Given the description of an element on the screen output the (x, y) to click on. 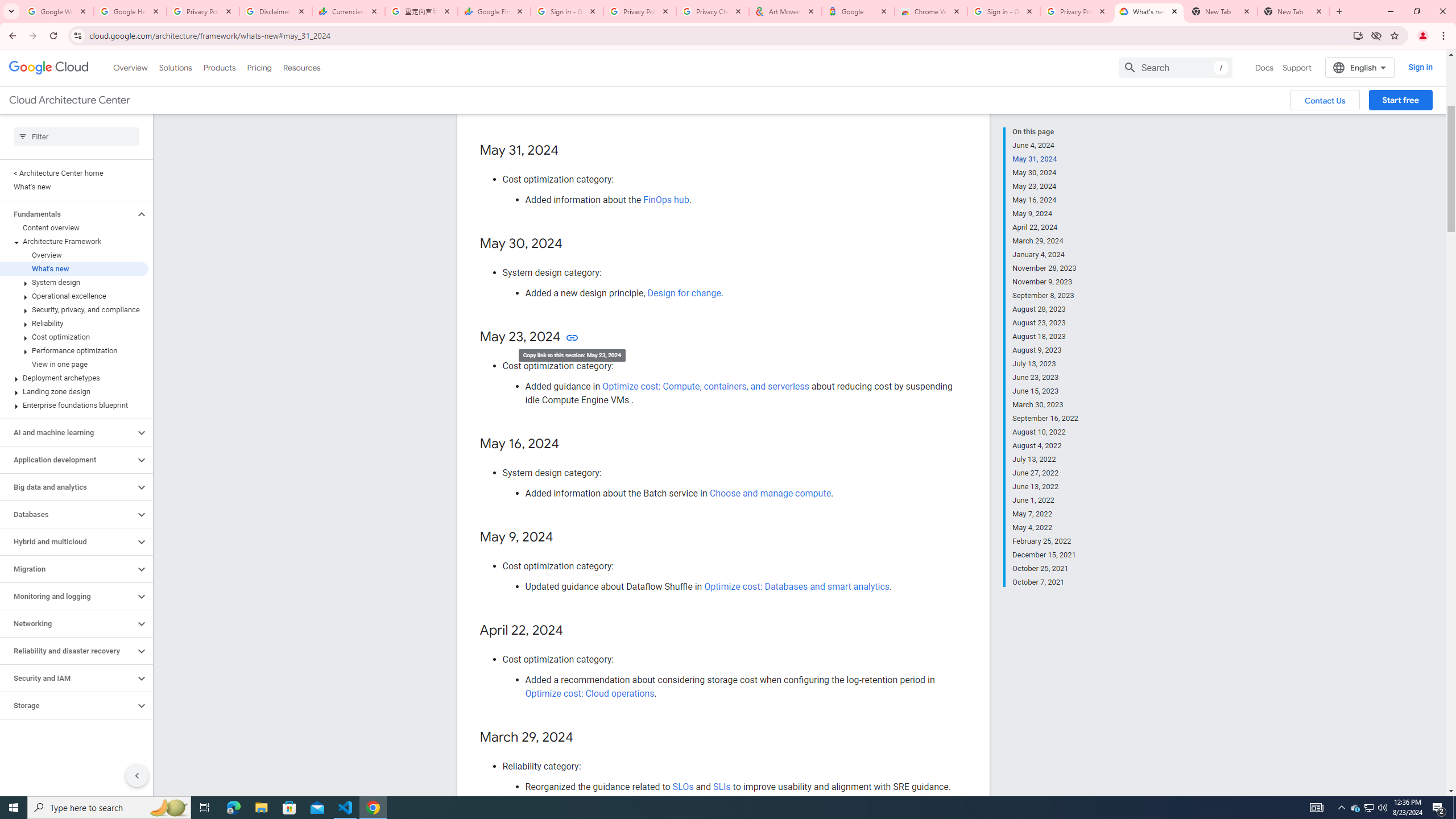
Pricing (259, 67)
November 9, 2023 (1044, 282)
Google (857, 11)
August 18, 2023 (1044, 336)
Docs, selected (1264, 67)
Security, privacy, and compliance (74, 309)
May 23, 2024 (1044, 186)
System design (74, 282)
SLIs (720, 786)
English (1359, 67)
Optimize cost: Databases and smart analytics (796, 586)
